Given the description of an element on the screen output the (x, y) to click on. 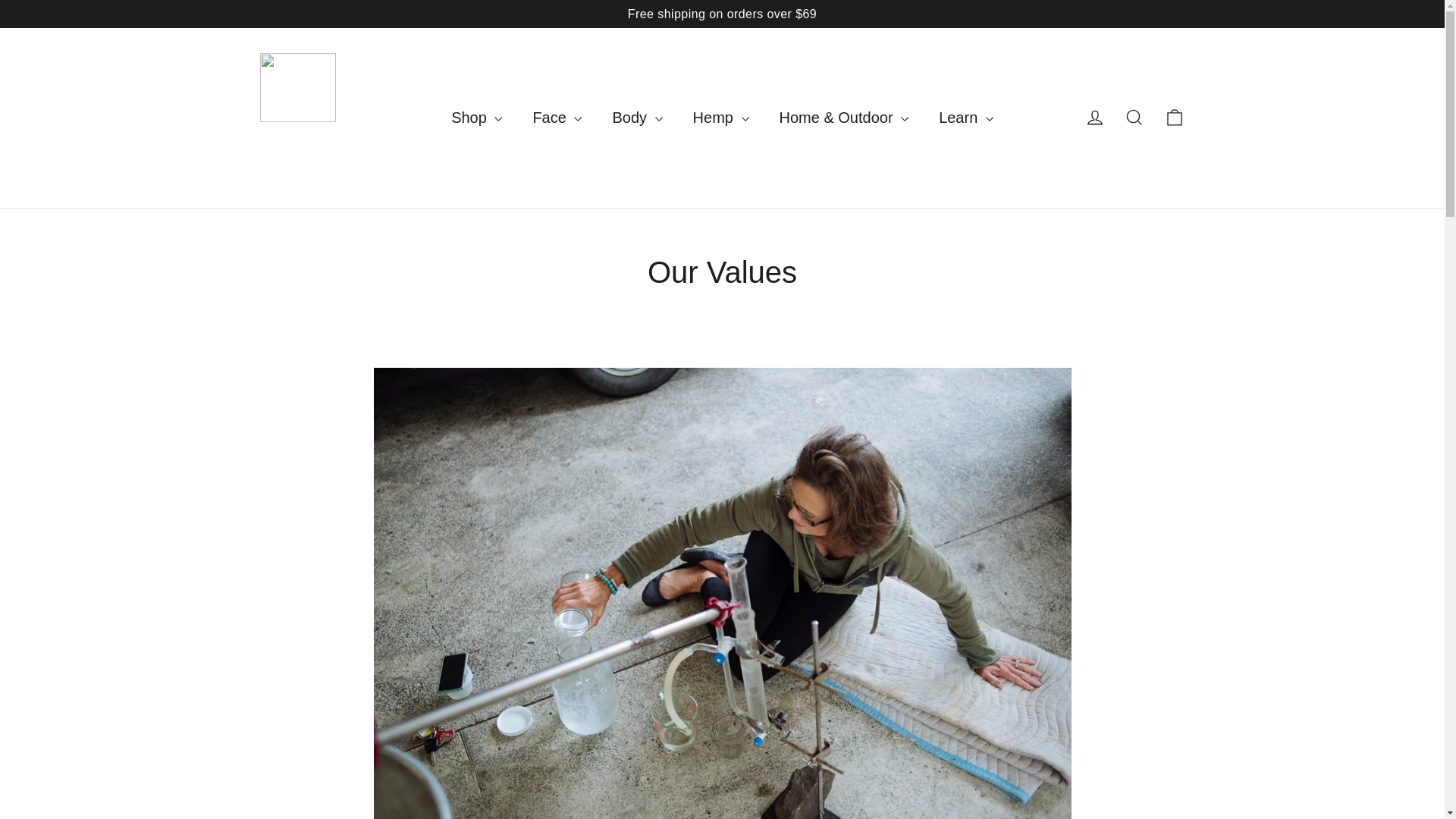
account (1094, 117)
icon-bag-minimal (1174, 117)
icon-search (1134, 117)
